Given the description of an element on the screen output the (x, y) to click on. 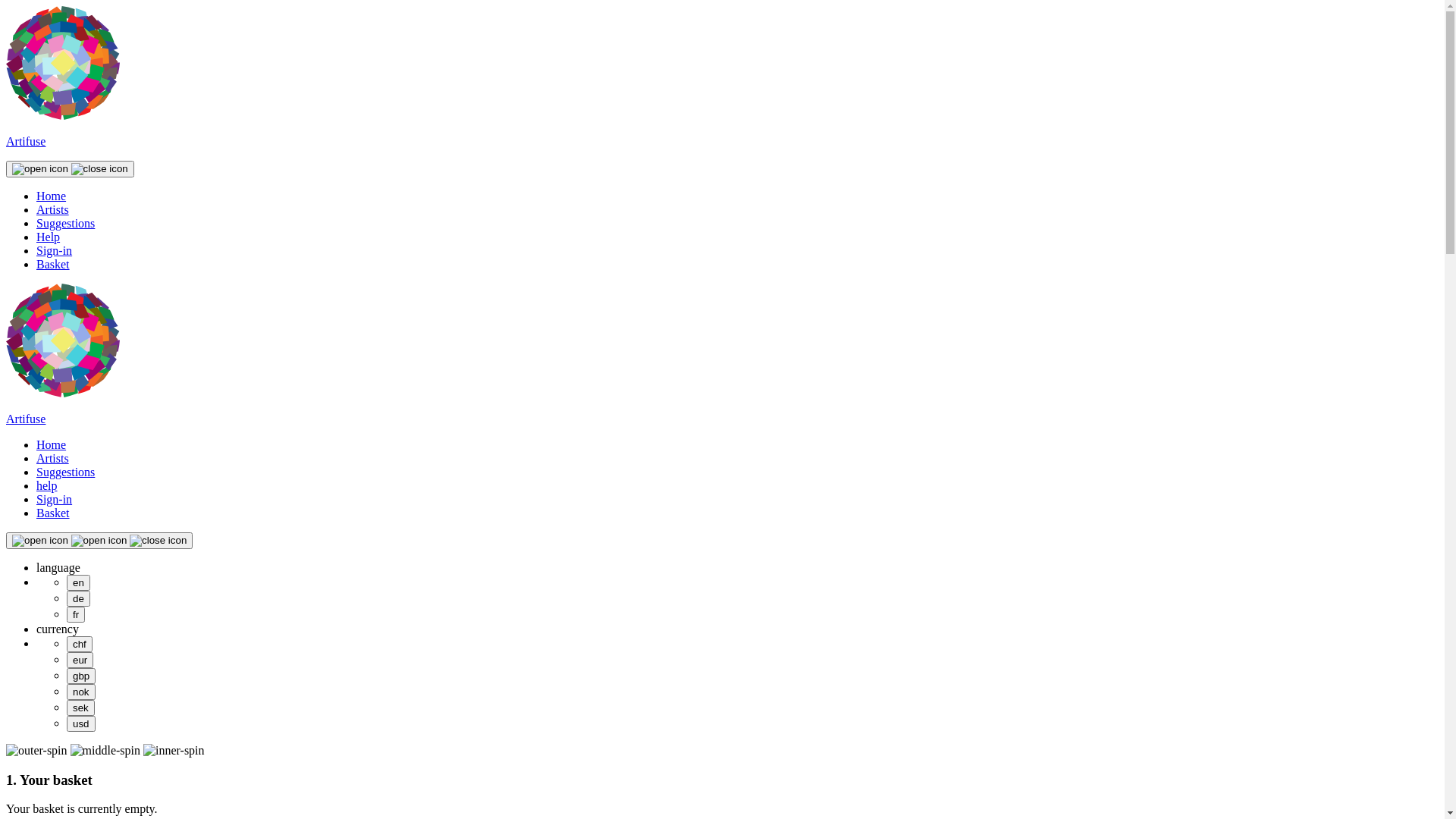
Sign-in Element type: text (54, 250)
Artists Element type: text (52, 457)
Help Element type: text (47, 236)
Home Element type: text (50, 444)
Basket Element type: text (52, 263)
Artists Element type: text (52, 209)
Suggestions Element type: text (65, 471)
Sign-in Element type: text (54, 498)
chf Element type: text (79, 644)
Home Element type: text (50, 195)
nok Element type: text (80, 691)
de Element type: text (78, 598)
international settings Element type: hover (99, 540)
Basket Element type: text (52, 512)
menu Element type: hover (70, 168)
eur Element type: text (79, 660)
gbp Element type: text (80, 676)
fr Element type: text (75, 614)
help Element type: text (46, 485)
sek Element type: text (80, 707)
en Element type: text (78, 582)
header logo
Artifuse Element type: text (722, 406)
Suggestions Element type: text (65, 222)
header logo
Artifuse Element type: text (722, 128)
usd Element type: text (80, 723)
